Given the description of an element on the screen output the (x, y) to click on. 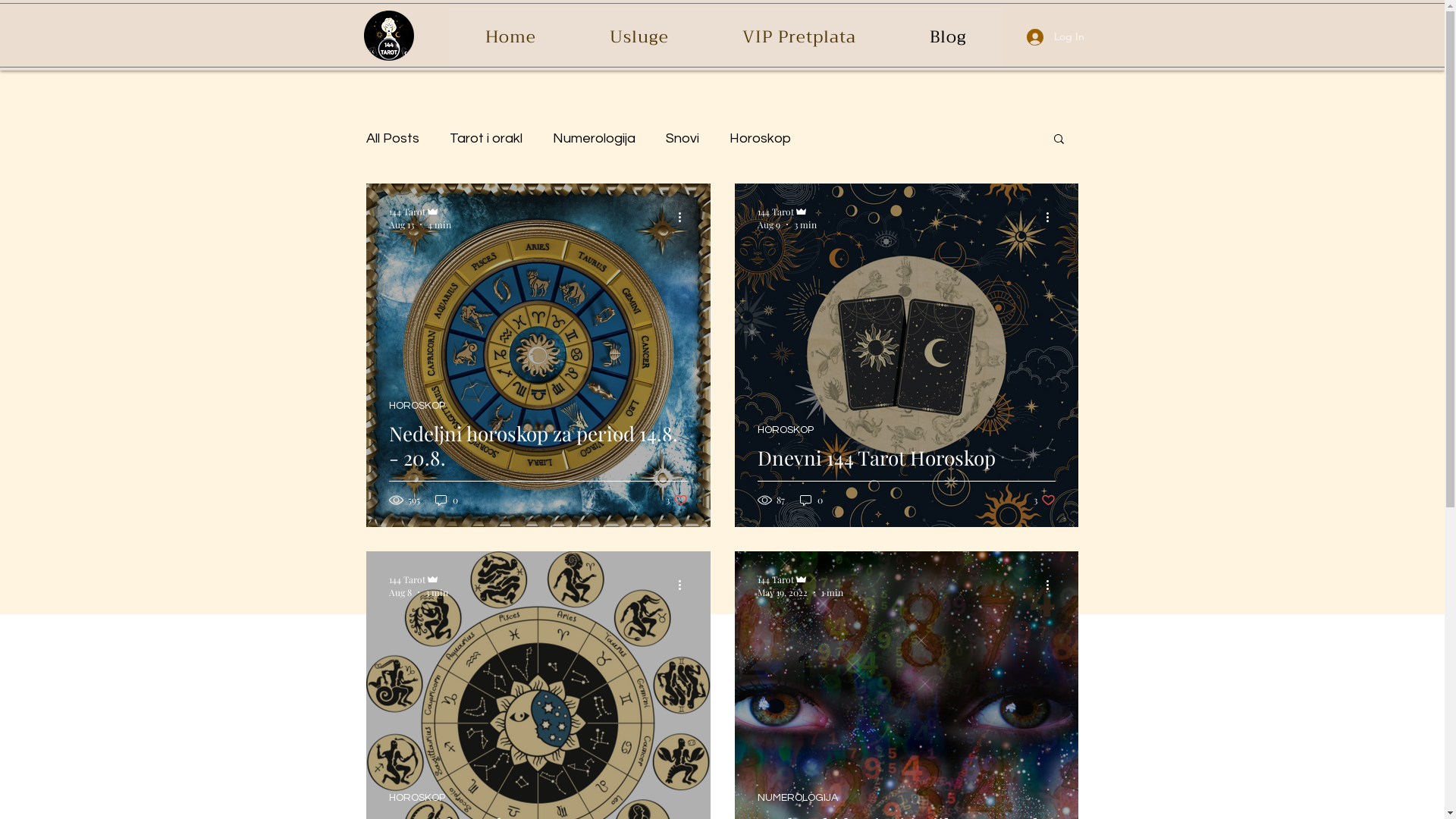
Blog Element type: text (948, 36)
Log In Element type: text (1055, 36)
144 Tarot Element type: text (785, 210)
3 likes. Post not marked as liked
3 Element type: text (1043, 499)
Home Element type: text (510, 36)
0 Element type: text (446, 499)
144 Tarot Element type: text (799, 578)
0 Element type: text (810, 499)
HOROSKOP Element type: text (784, 429)
VIP Pretplata Element type: text (799, 36)
3 likes. Post not marked as liked
3 Element type: text (676, 499)
HOROSKOP Element type: text (416, 797)
Numerologija Element type: text (593, 137)
HOROSKOP Element type: text (416, 405)
Usluge Element type: text (638, 36)
Nedeljni horoskop za period 14.8. - 20.8. Element type: text (537, 463)
Snovi Element type: text (682, 137)
Horoskop Element type: text (759, 137)
All Posts Element type: text (391, 137)
144 Tarot Element type: text (419, 210)
Tarot i orakl Element type: text (484, 137)
144 Tarot Element type: text (417, 578)
NUMEROLOGIJA Element type: text (796, 797)
Dnevni 144 Tarot Horoskop Element type: text (905, 475)
